Given the description of an element on the screen output the (x, y) to click on. 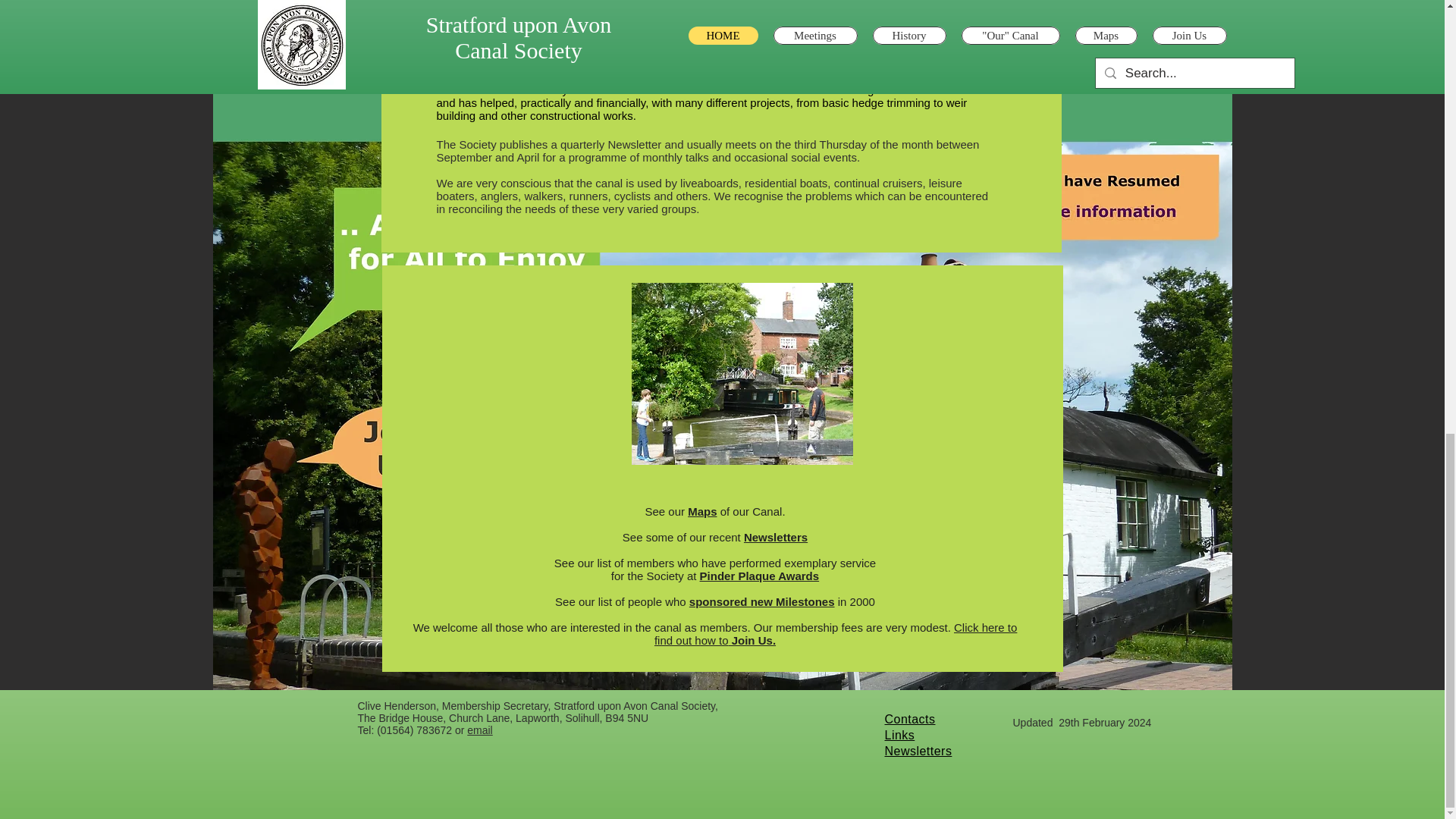
Maps (701, 511)
Contacts (908, 718)
Links (898, 735)
Newsletters (917, 750)
Newsletters (776, 536)
sponsored new Milestones (761, 601)
Click here to find out how to Join Us. (834, 633)
Pinder Plaque Awards (759, 575)
email (479, 729)
